Given the description of an element on the screen output the (x, y) to click on. 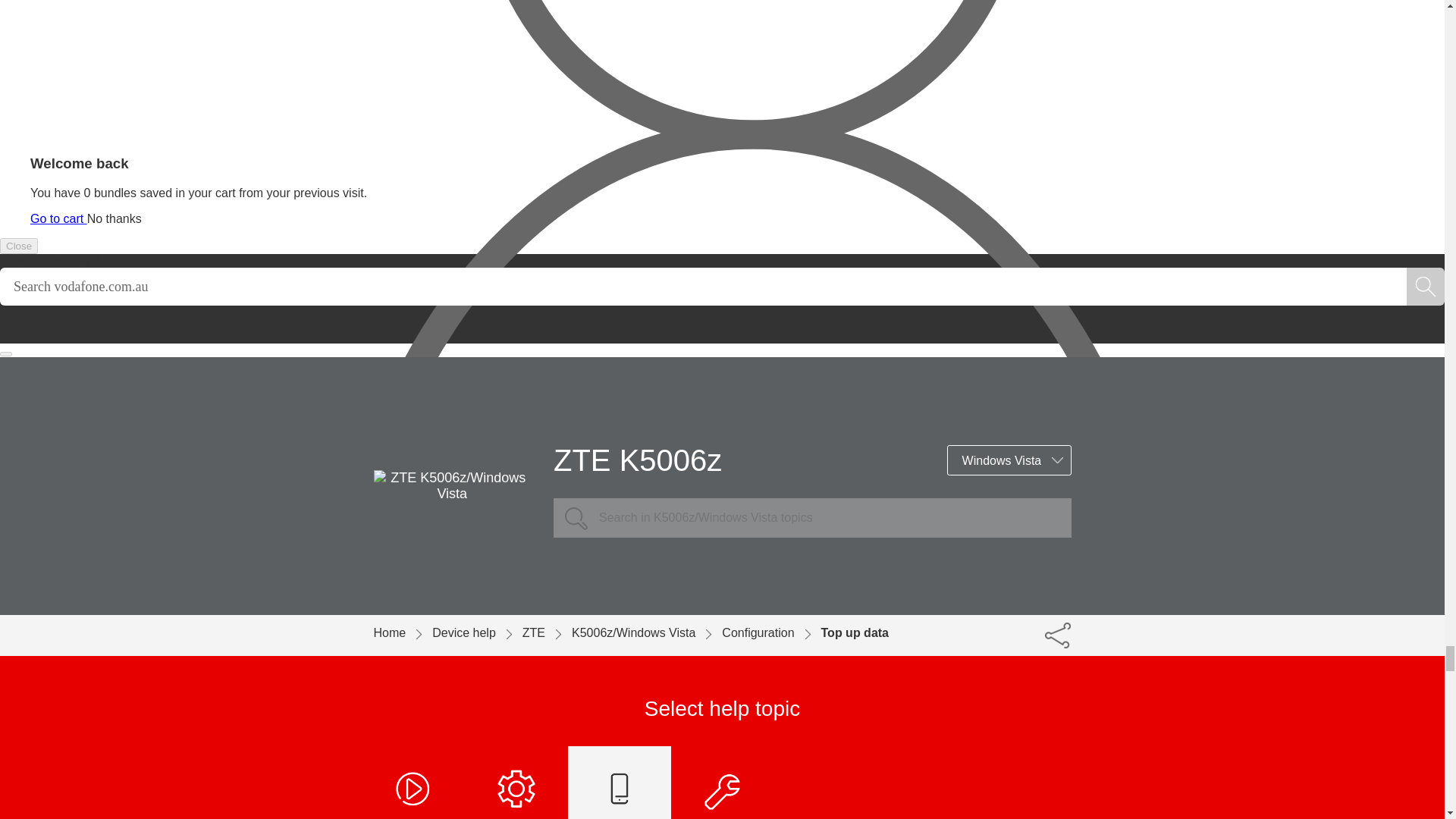
Configuration (619, 782)
Configuration (771, 632)
Specifications (722, 782)
Home (402, 632)
Basic use (515, 782)
Device help (477, 632)
ZTE (547, 632)
Getting started (413, 782)
Insert Search word (703, 286)
Top up data (854, 632)
